Given the description of an element on the screen output the (x, y) to click on. 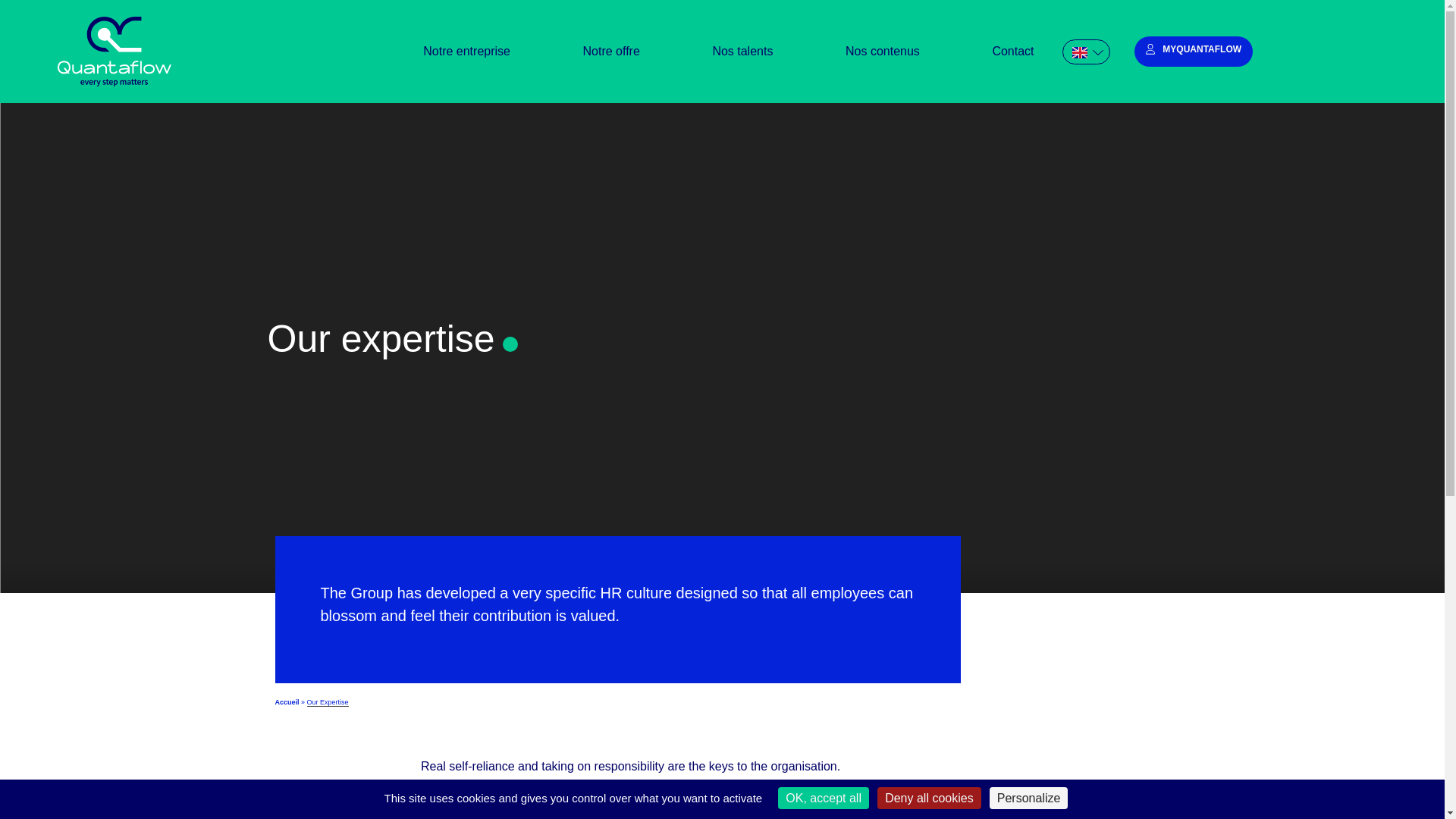
Notre entreprise (466, 6)
Nos contenus (882, 46)
Notre offre (611, 29)
Nos talents (742, 39)
